Given the description of an element on the screen output the (x, y) to click on. 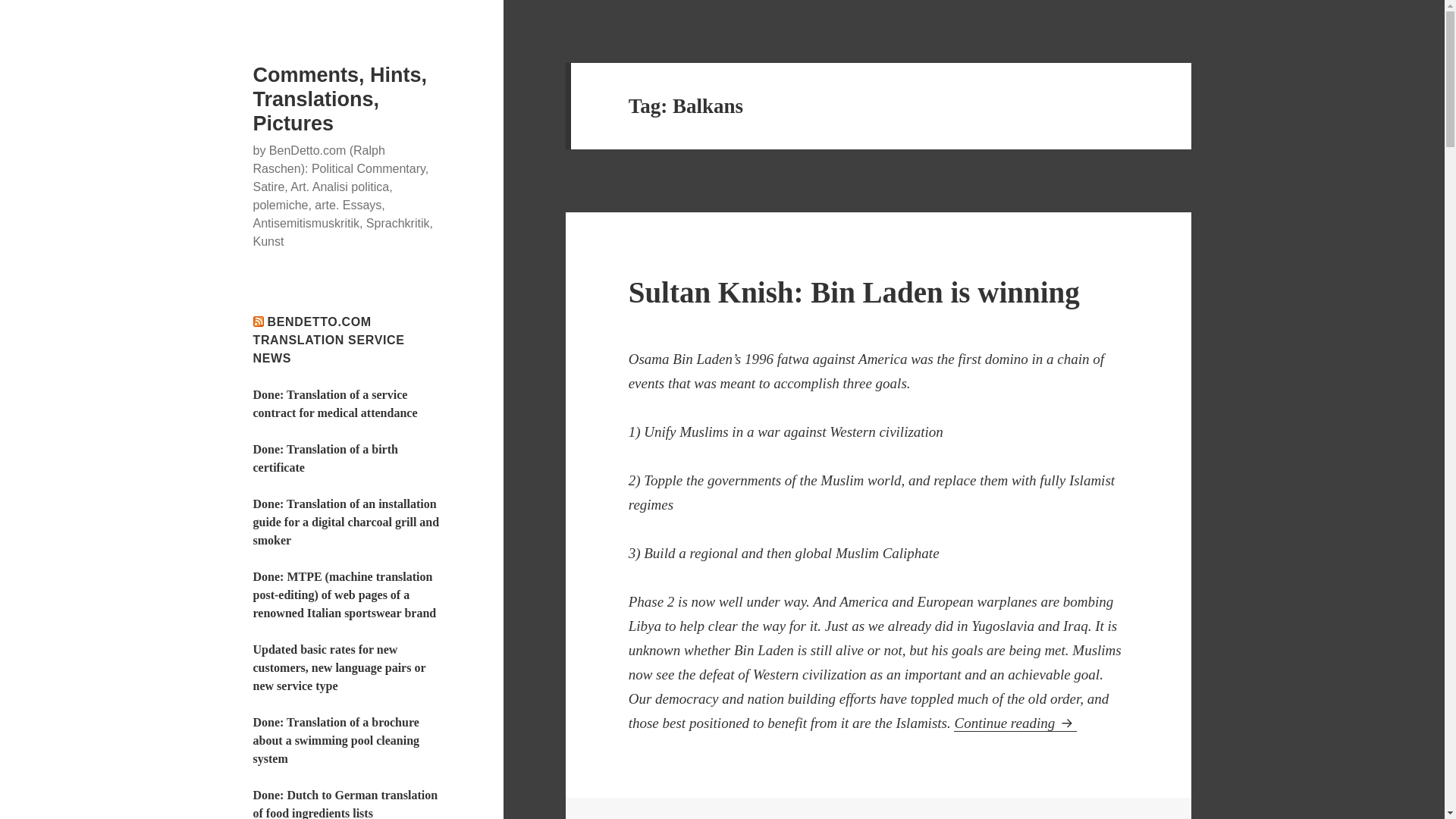
Done: Dutch to German translation of food ingredients lists (345, 803)
Comments, Hints, Translations, Pictures (340, 99)
Done: Translation of a birth certificate (325, 458)
BENDETTO.COM TRANSLATION SERVICE NEWS (328, 339)
